Given the description of an element on the screen output the (x, y) to click on. 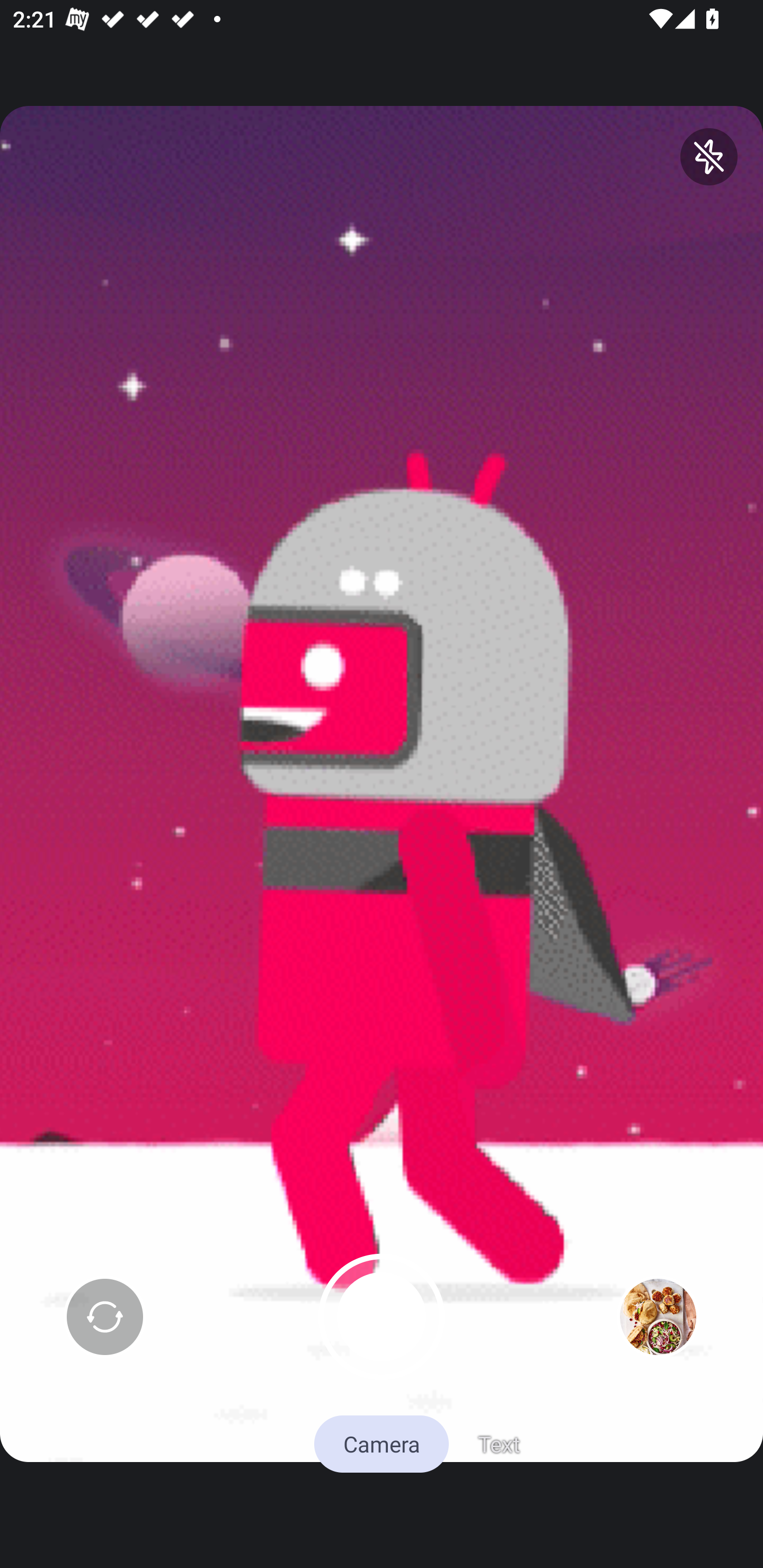
Open gallery (657, 1316)
